Given the description of an element on the screen output the (x, y) to click on. 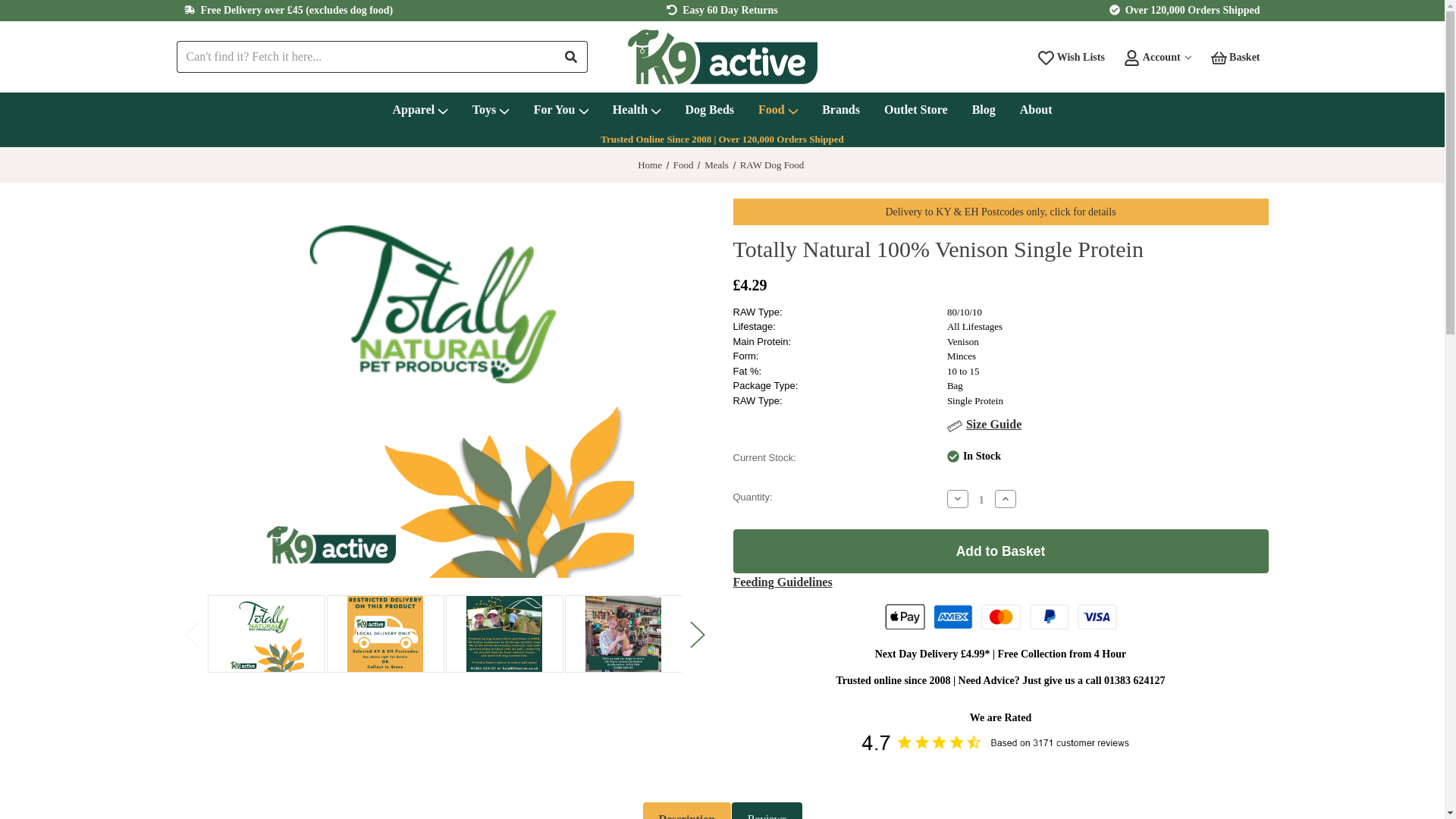
About K9 Active Image (505, 633)
Add to Basket (1000, 551)
Wish Lists (1071, 56)
Account (1157, 56)
Toys (490, 111)
1 (981, 498)
K9 Active (721, 57)
Basket (1235, 56)
Size Guide (994, 423)
K9 Active Dog Food Restricted Delivery Notice (385, 633)
Visit Our Store K9 Active with Owner and Dog (624, 633)
Apparel (420, 111)
For You (560, 111)
